Given the description of an element on the screen output the (x, y) to click on. 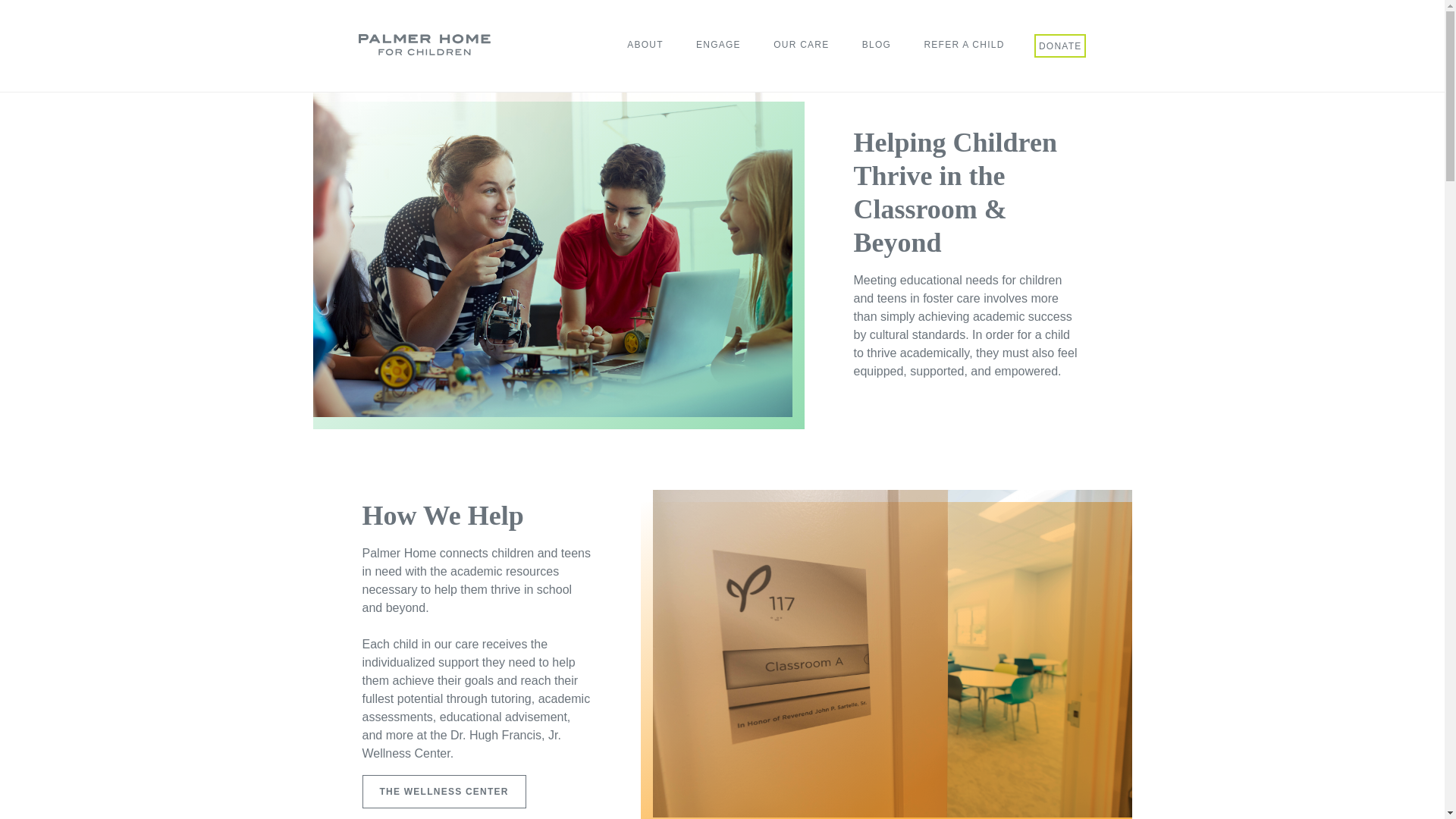
DONATE (1060, 46)
BLOG (876, 45)
ENGAGE (718, 45)
REFER A CHILD (963, 45)
ABOUT (645, 45)
OUR CARE (800, 45)
